Given the description of an element on the screen output the (x, y) to click on. 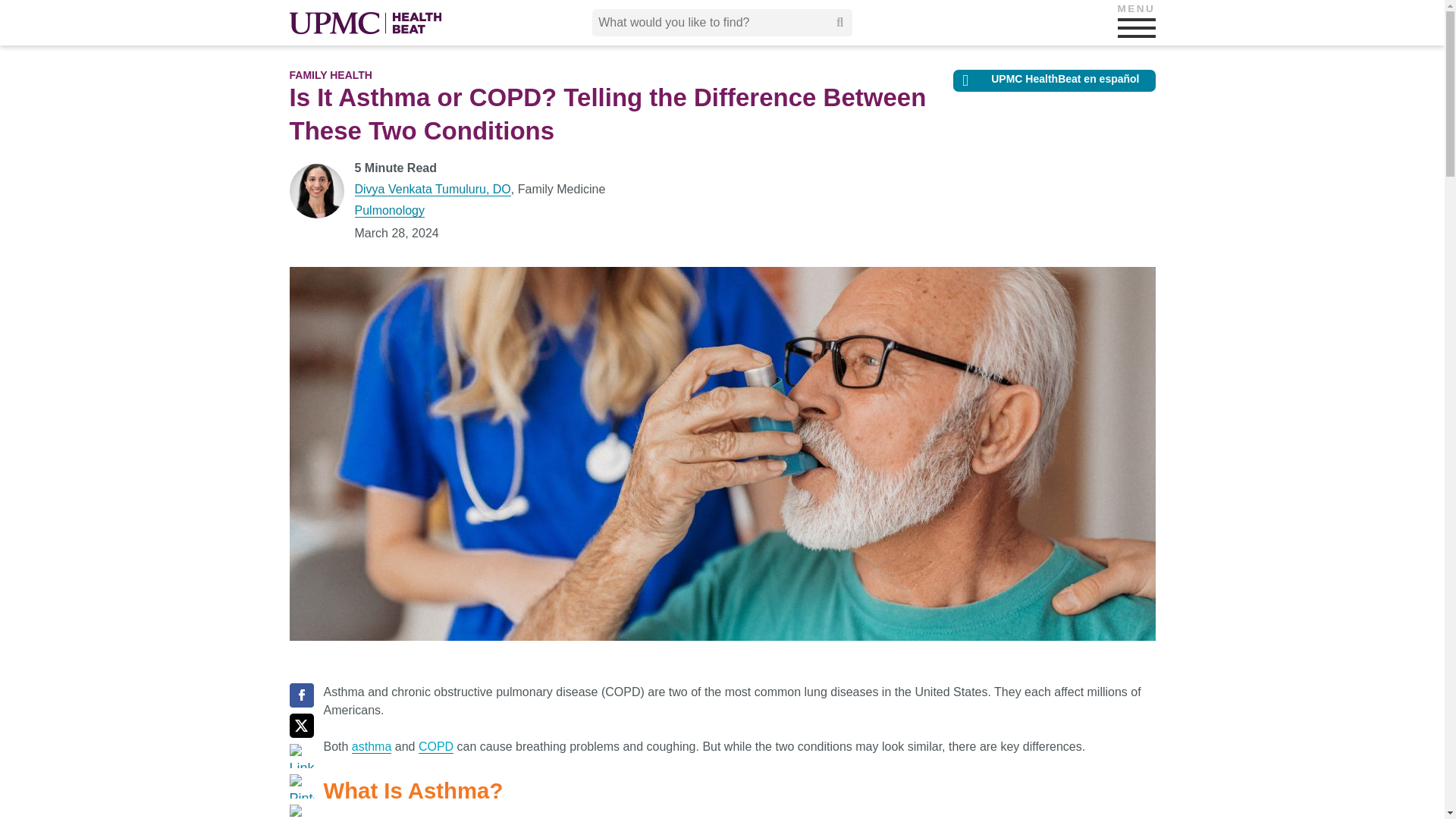
UPMC HealthBeat (365, 22)
Submit search (839, 22)
  MENU (1137, 27)
